Given the description of an element on the screen output the (x, y) to click on. 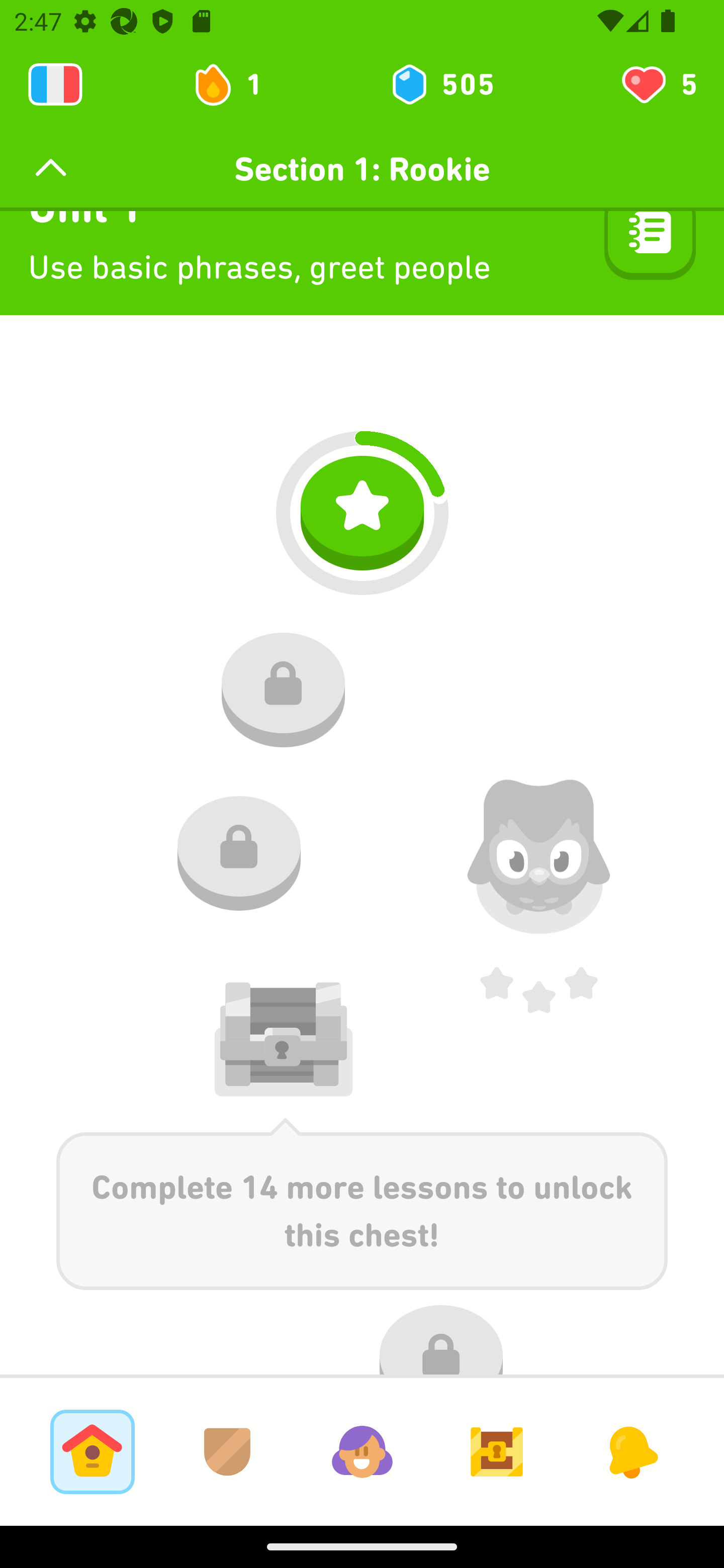
Learning 2131888976 (55, 84)
1 day streak 1 (236, 84)
505 (441, 84)
You have 5 hearts left 5 (657, 84)
Section 1: Rookie (362, 169)
Complete 14 more lessons to unlock this chest! (361, 1203)
Learn Tab (91, 1451)
Leagues Tab (227, 1451)
Profile Tab (361, 1451)
Goals Tab (496, 1451)
News Tab (631, 1451)
